Given the description of an element on the screen output the (x, y) to click on. 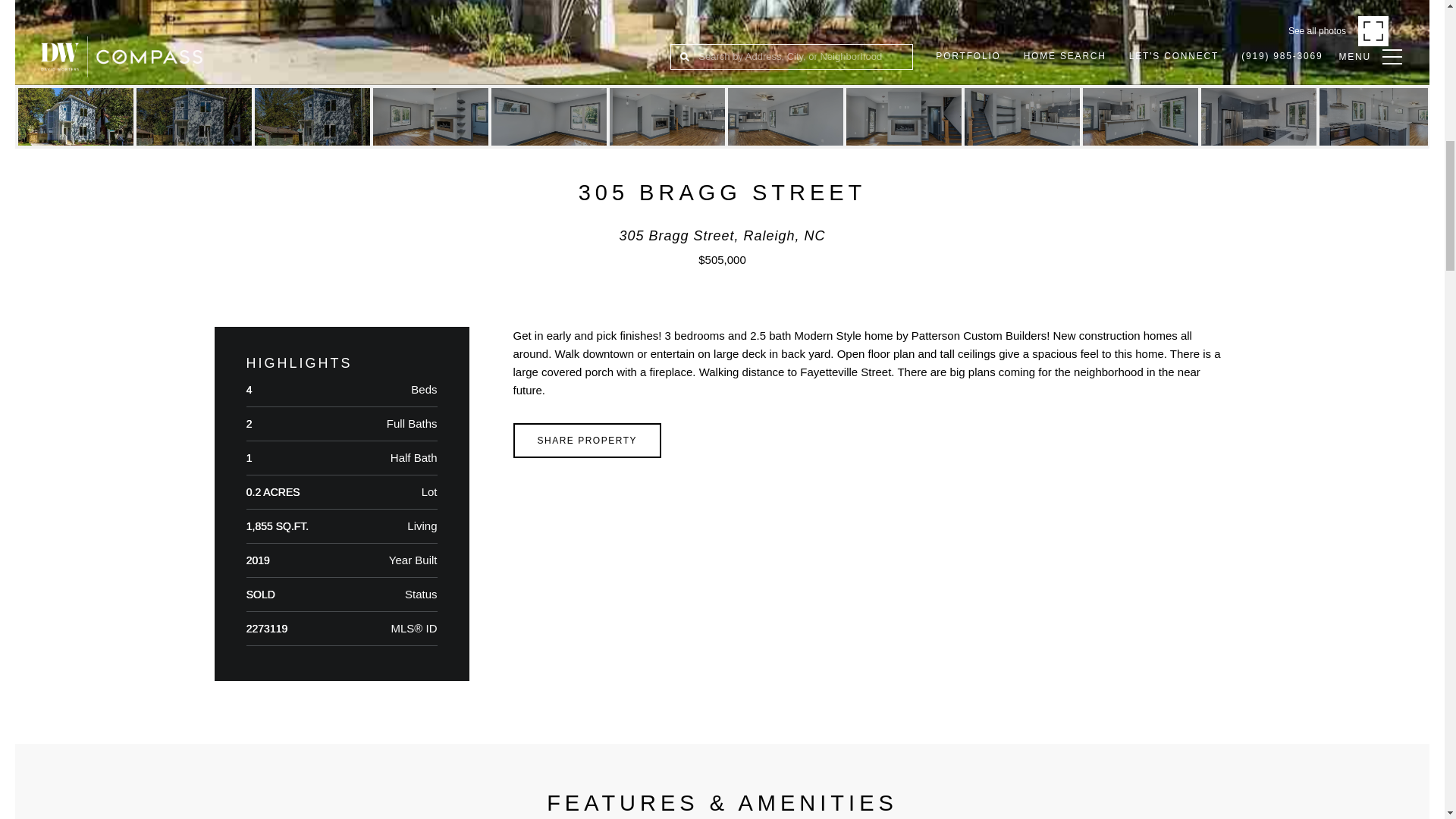
See all photos (1338, 30)
SHARE PROPERTY (586, 440)
